Given the description of an element on the screen output the (x, y) to click on. 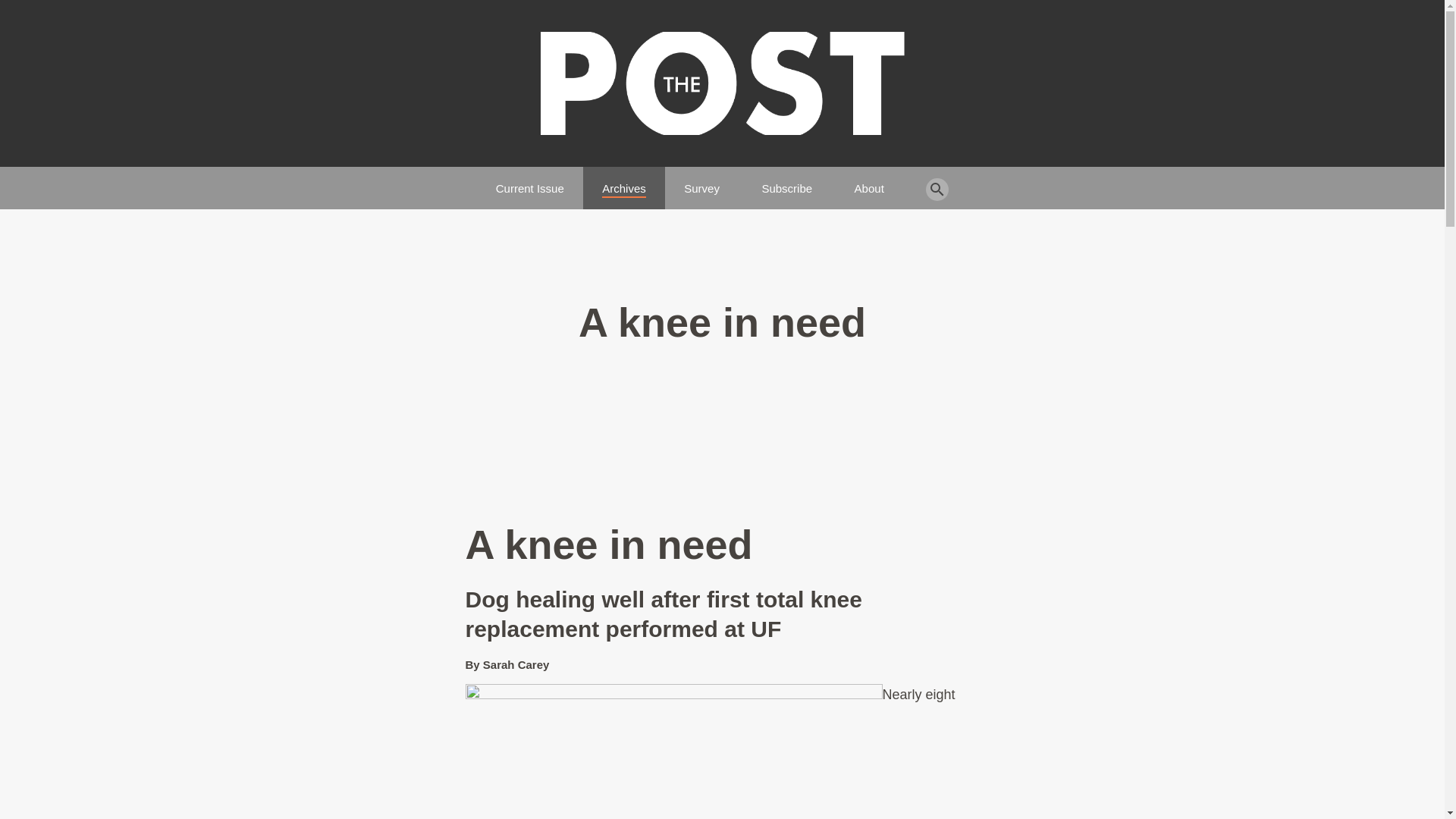
The POST - Home (722, 83)
Archives (624, 182)
Subscribe (786, 182)
Survey (701, 182)
About (868, 182)
Current Issue (530, 182)
